Given the description of an element on the screen output the (x, y) to click on. 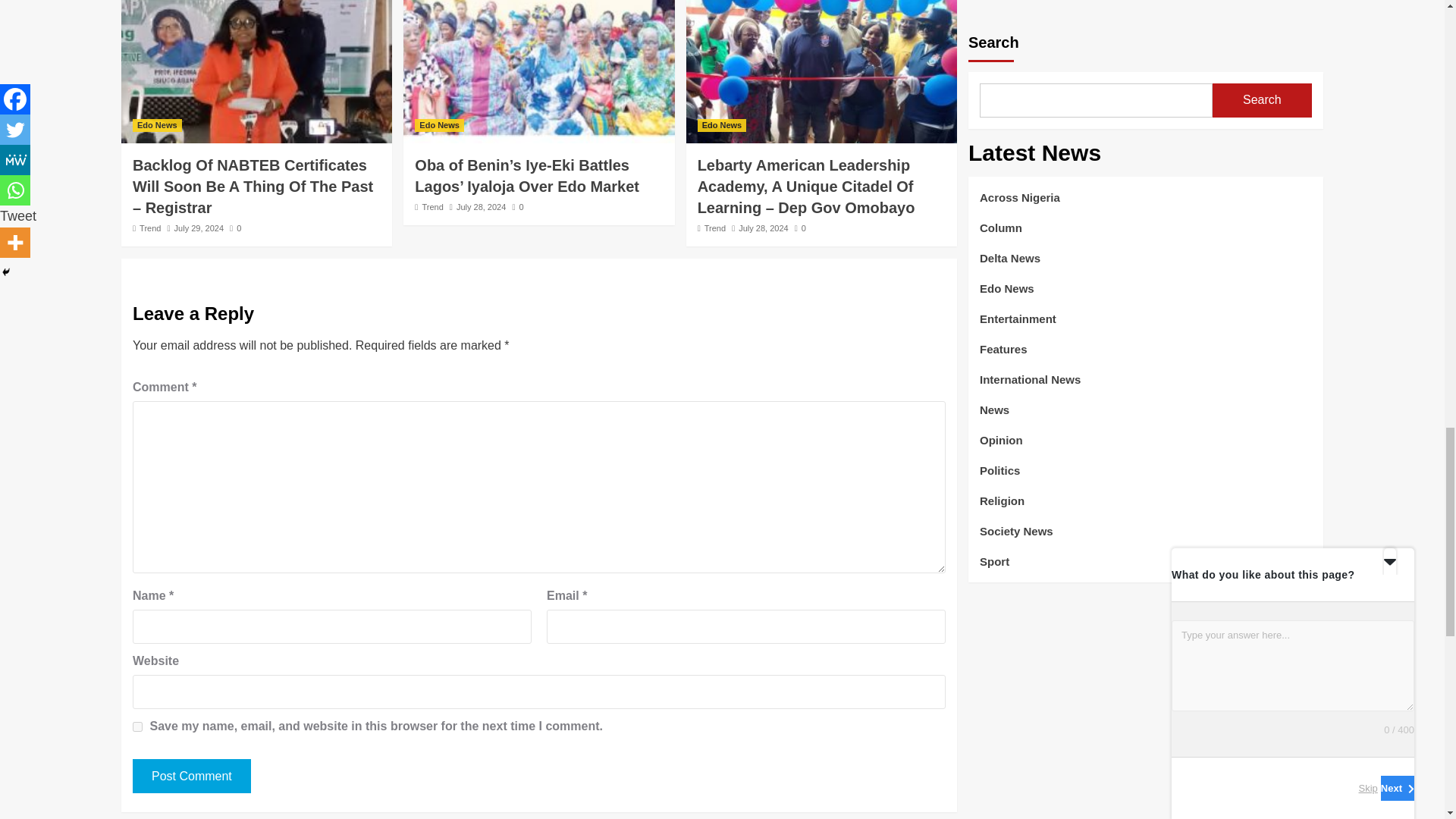
yes (137, 726)
Trend (149, 227)
Edo News (157, 124)
Post Comment (191, 776)
July 29, 2024 (199, 227)
